Given the description of an element on the screen output the (x, y) to click on. 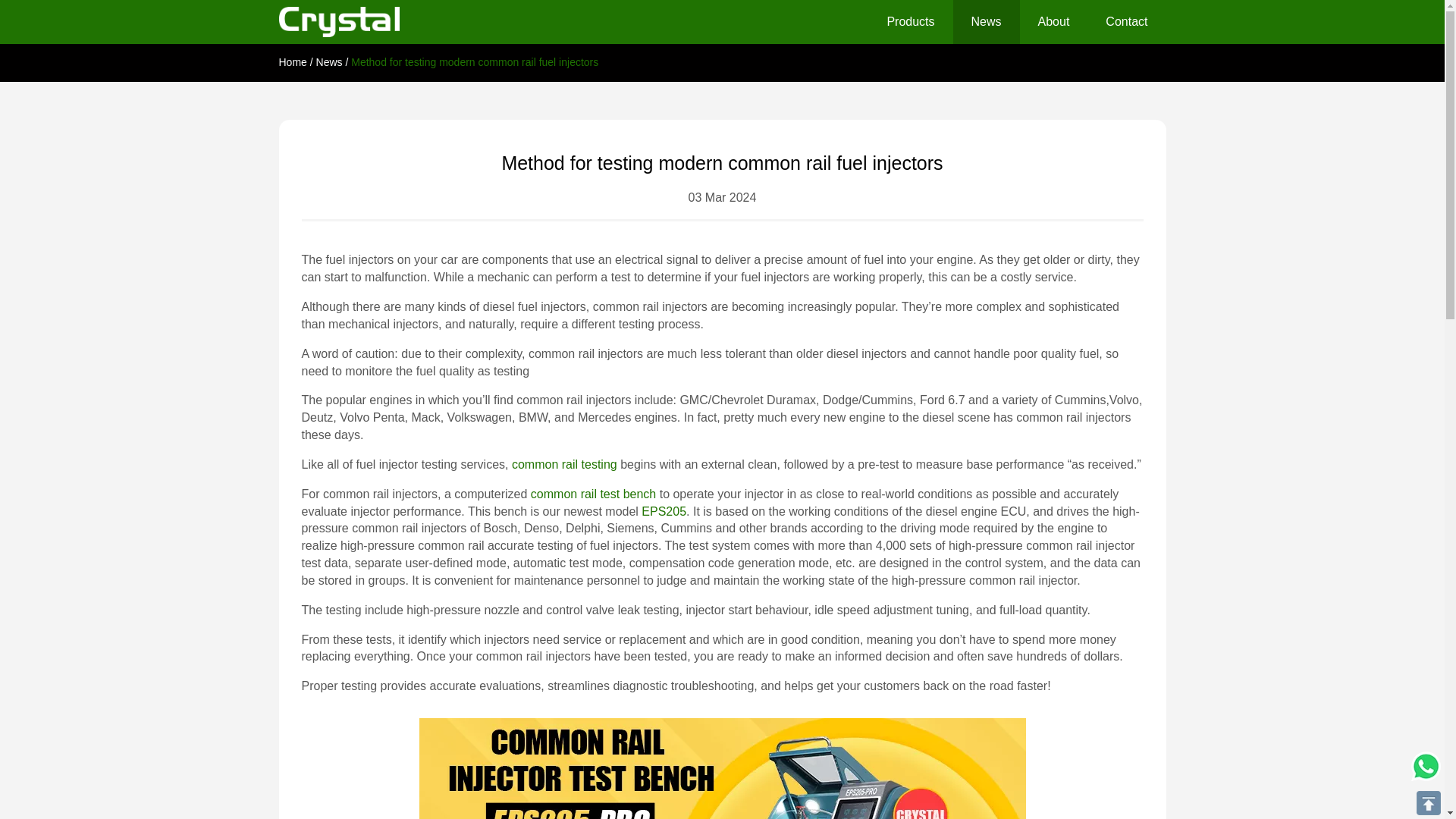
Home (293, 61)
common rail testing (564, 463)
News (328, 61)
common rail test bench (593, 493)
About (1053, 22)
EPS205 (663, 511)
Contact (1126, 22)
News (986, 22)
Products (909, 22)
